Given the description of an element on the screen output the (x, y) to click on. 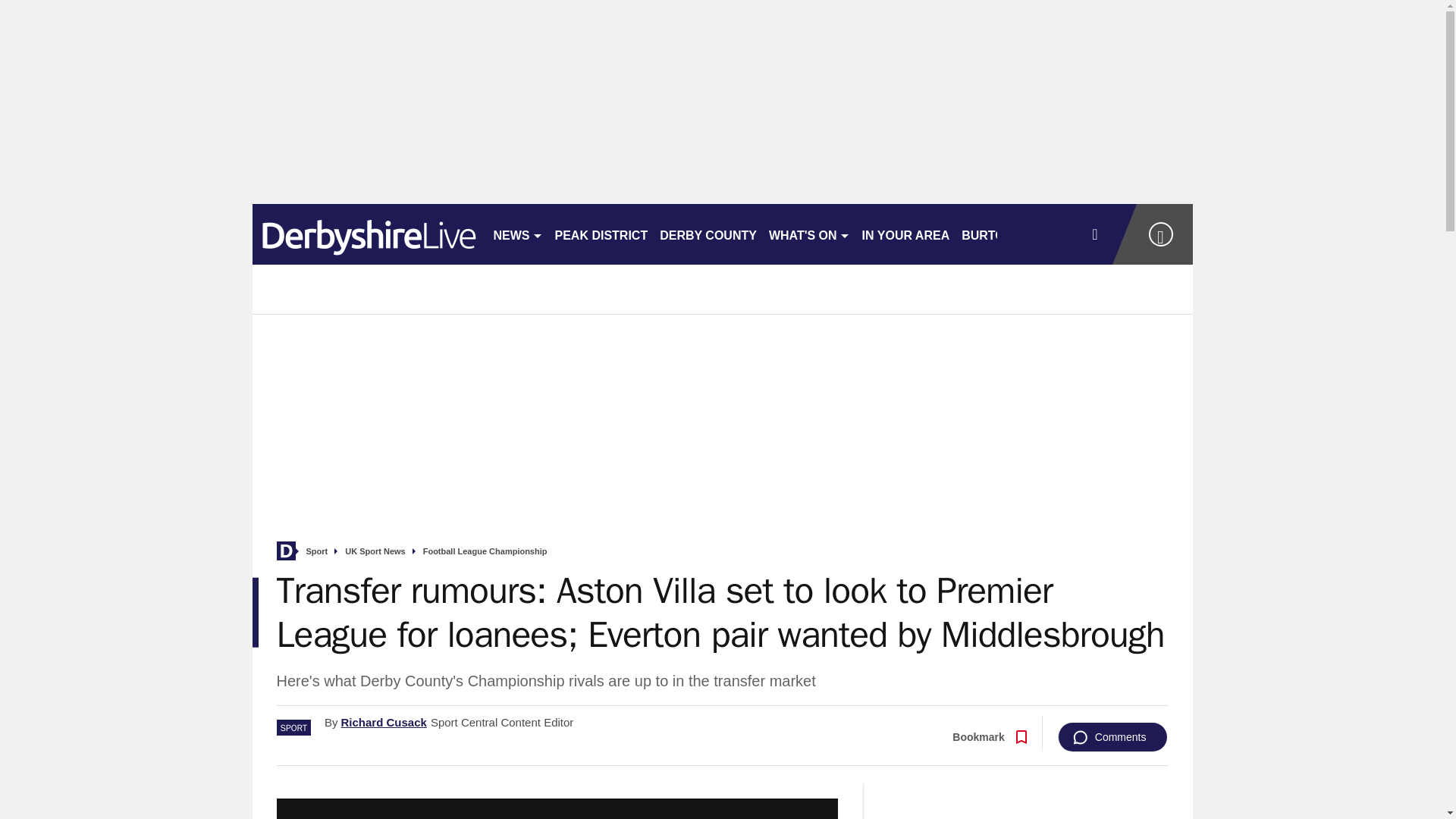
derbytelegraph (365, 233)
DERBY COUNTY (707, 233)
IN YOUR AREA (906, 233)
WHAT'S ON (809, 233)
NEWS (517, 233)
Comments (1112, 736)
PEAK DISTRICT (600, 233)
BURTONLIVE (1000, 233)
